Given the description of an element on the screen output the (x, y) to click on. 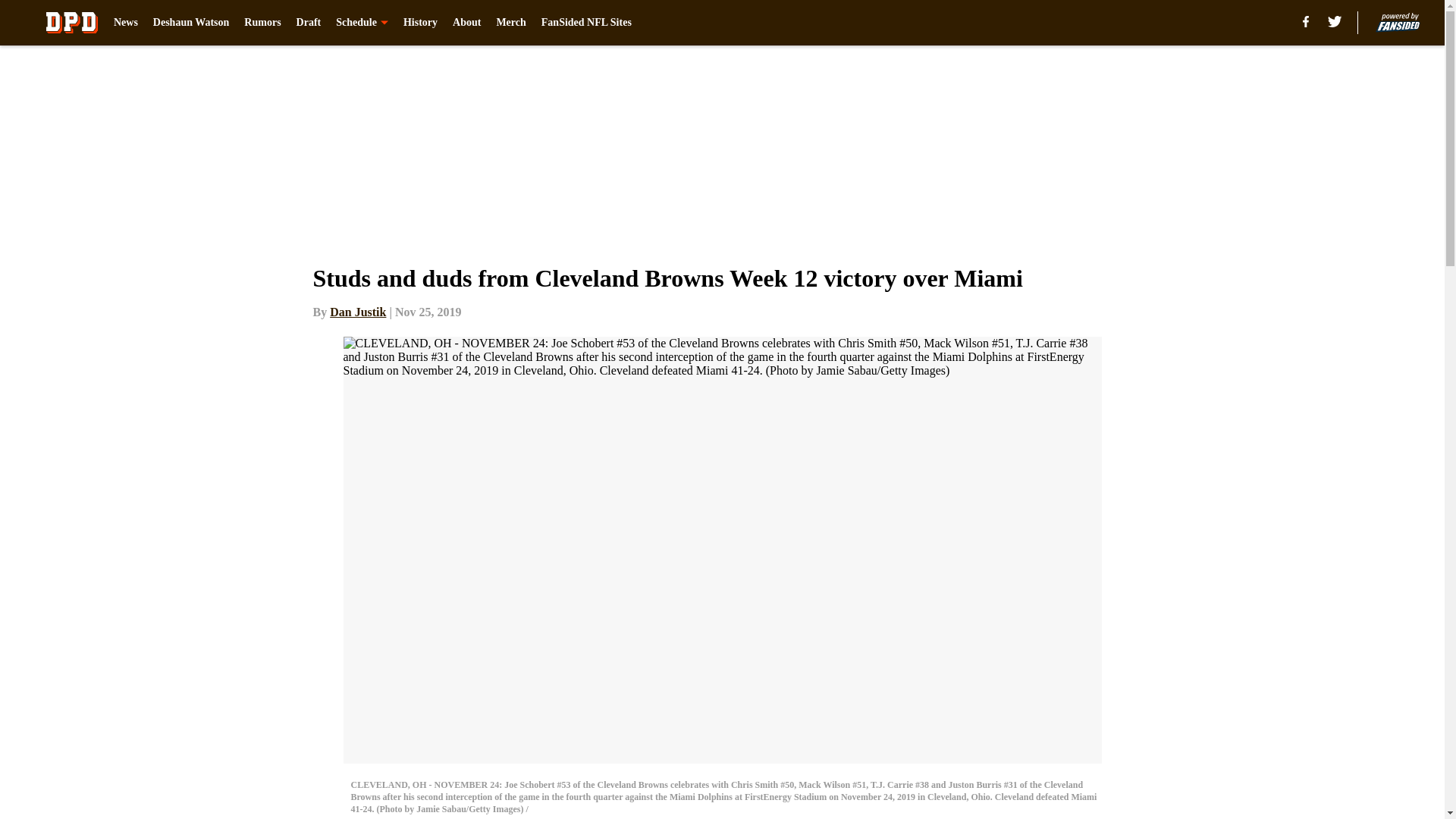
About (466, 22)
Draft (309, 22)
Rumors (262, 22)
News (125, 22)
History (420, 22)
Dan Justik (357, 311)
Merch (510, 22)
Deshaun Watson (191, 22)
FanSided NFL Sites (586, 22)
